Given the description of an element on the screen output the (x, y) to click on. 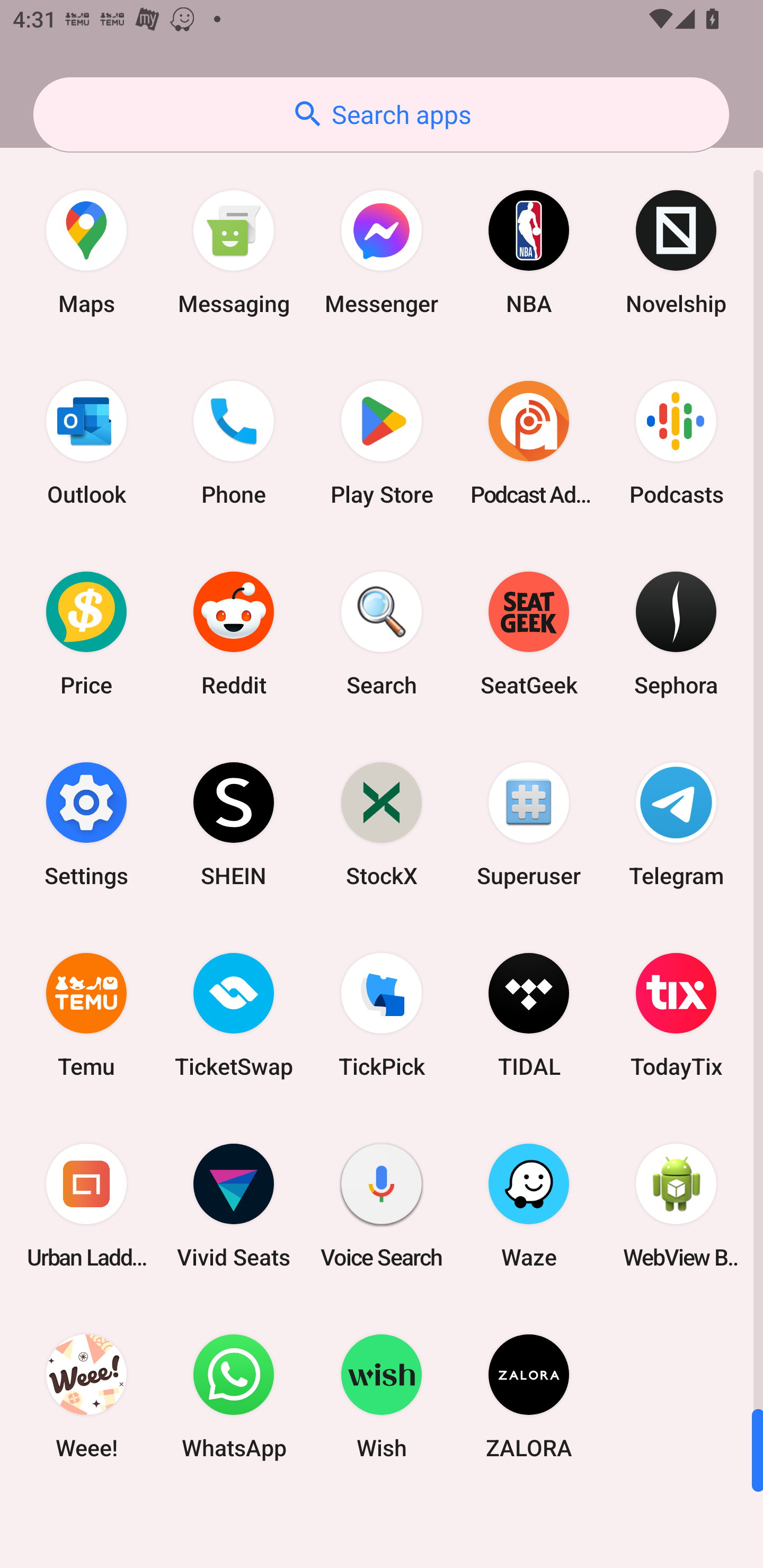
  Search apps (381, 114)
Maps (86, 252)
Messaging (233, 252)
Messenger (381, 252)
NBA (528, 252)
Novelship (676, 252)
Outlook (86, 442)
Phone (233, 442)
Play Store (381, 442)
Podcast Addict (528, 442)
Podcasts (676, 442)
Price (86, 633)
Reddit (233, 633)
Search (381, 633)
SeatGeek (528, 633)
Sephora (676, 633)
Settings (86, 823)
SHEIN (233, 823)
StockX (381, 823)
Superuser (528, 823)
Telegram (676, 823)
Temu (86, 1014)
TicketSwap (233, 1014)
TickPick (381, 1014)
TIDAL (528, 1014)
TodayTix (676, 1014)
Urban Ladder (86, 1205)
Vivid Seats (233, 1205)
Voice Search (381, 1205)
Waze (528, 1205)
WebView Browser Tester (676, 1205)
Weee! (86, 1396)
WhatsApp (233, 1396)
Wish (381, 1396)
ZALORA (528, 1396)
